Given the description of an element on the screen output the (x, y) to click on. 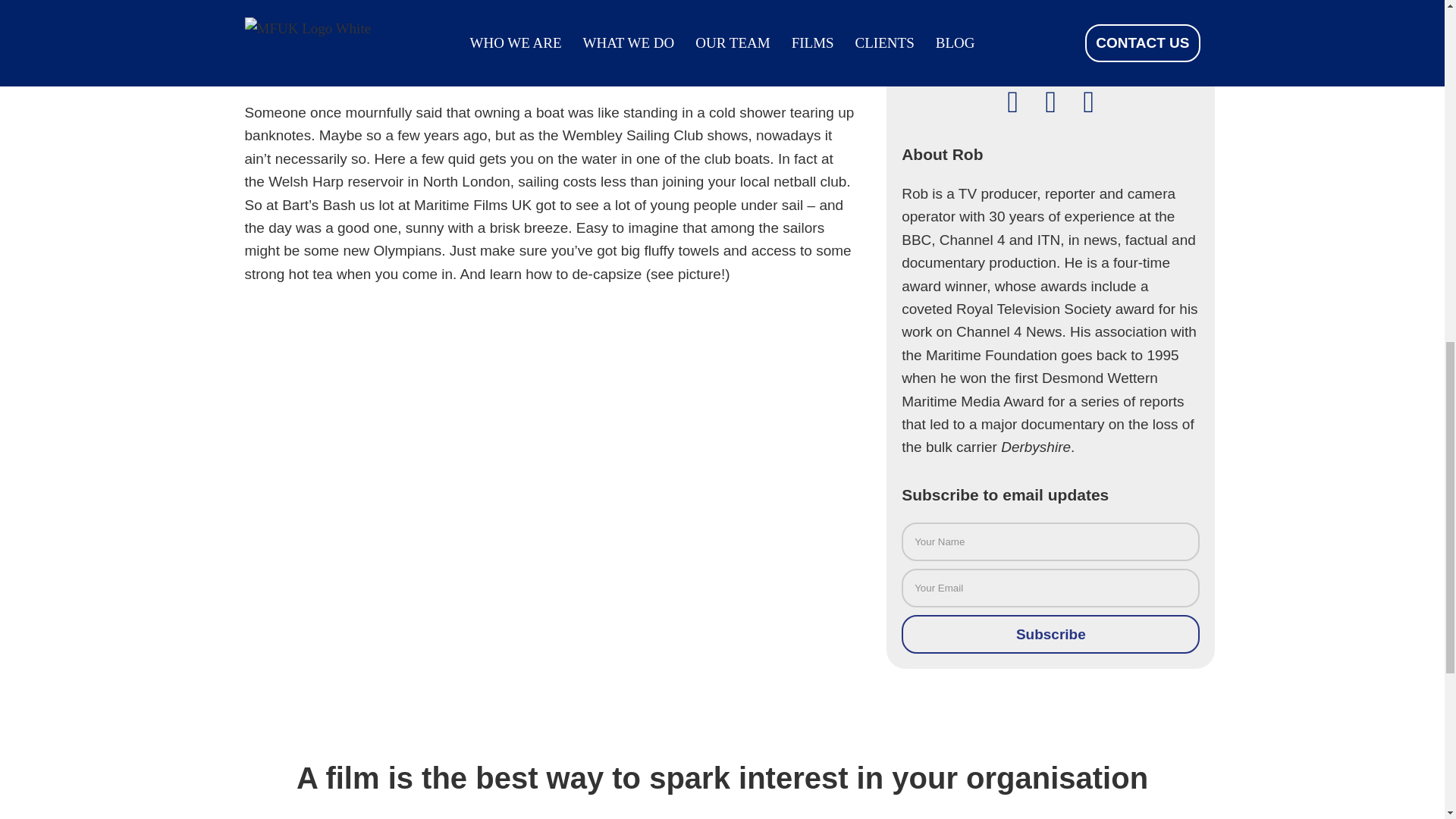
Going Sailing Getting Wet (550, 23)
Back to MFUK Blog (1050, 7)
Subscribe (1050, 634)
